Given the description of an element on the screen output the (x, y) to click on. 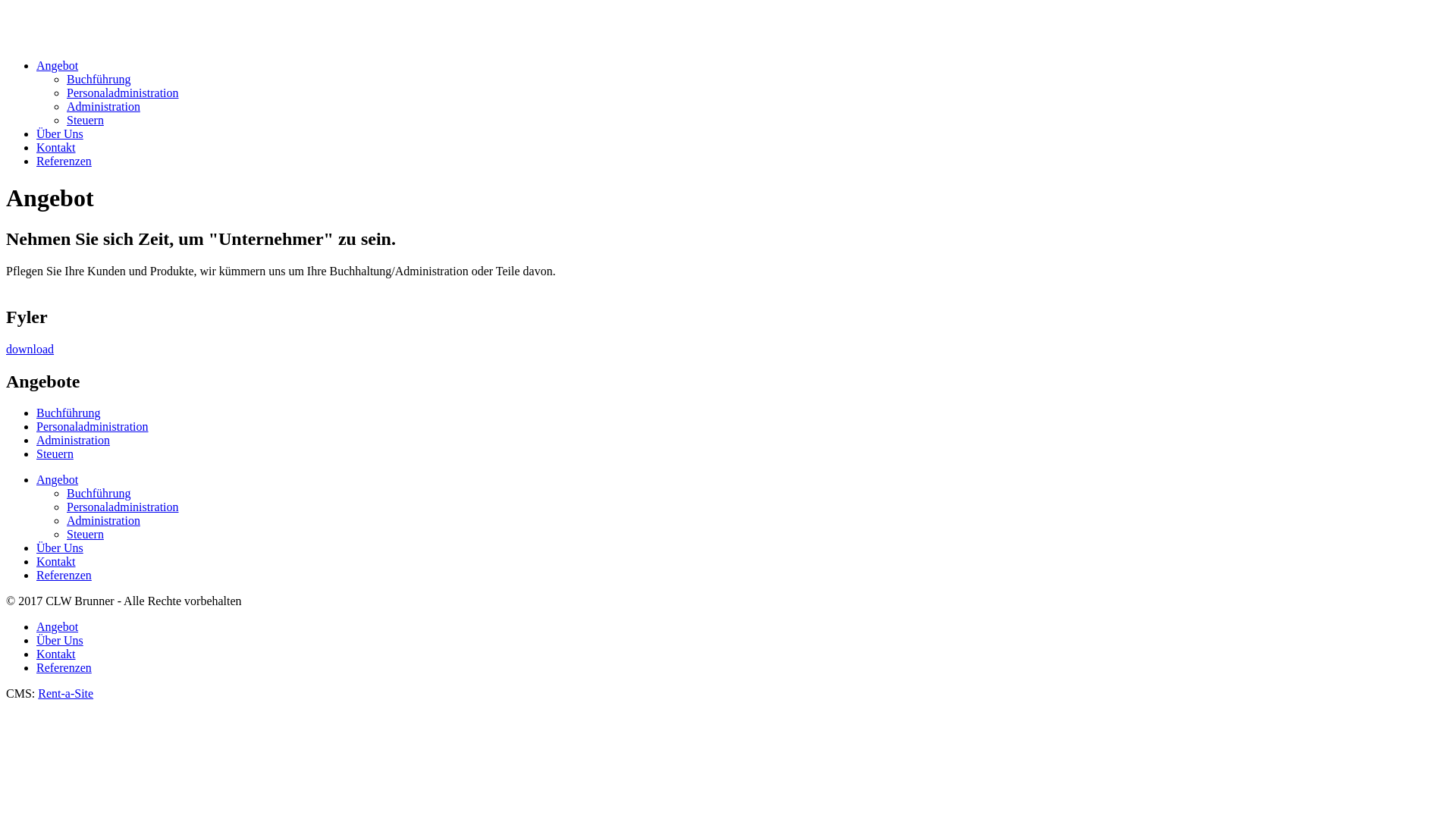
Referenzen Element type: text (63, 574)
Angebot Element type: text (57, 479)
Rent-a-Site Element type: text (65, 693)
Administration Element type: text (72, 439)
Personaladministration Element type: text (122, 506)
Steuern Element type: text (54, 453)
Kontakt Element type: text (55, 653)
Personaladministration Element type: text (92, 426)
Referenzen Element type: text (63, 160)
Personaladministration Element type: text (122, 92)
Angebot Element type: text (57, 65)
Angebot Element type: text (57, 626)
Steuern Element type: text (84, 119)
Referenzen Element type: text (63, 667)
download Element type: text (29, 348)
Administration Element type: text (103, 520)
Administration Element type: text (103, 106)
Steuern Element type: text (84, 533)
Kontakt Element type: text (55, 147)
Kontakt Element type: text (55, 561)
